Given the description of an element on the screen output the (x, y) to click on. 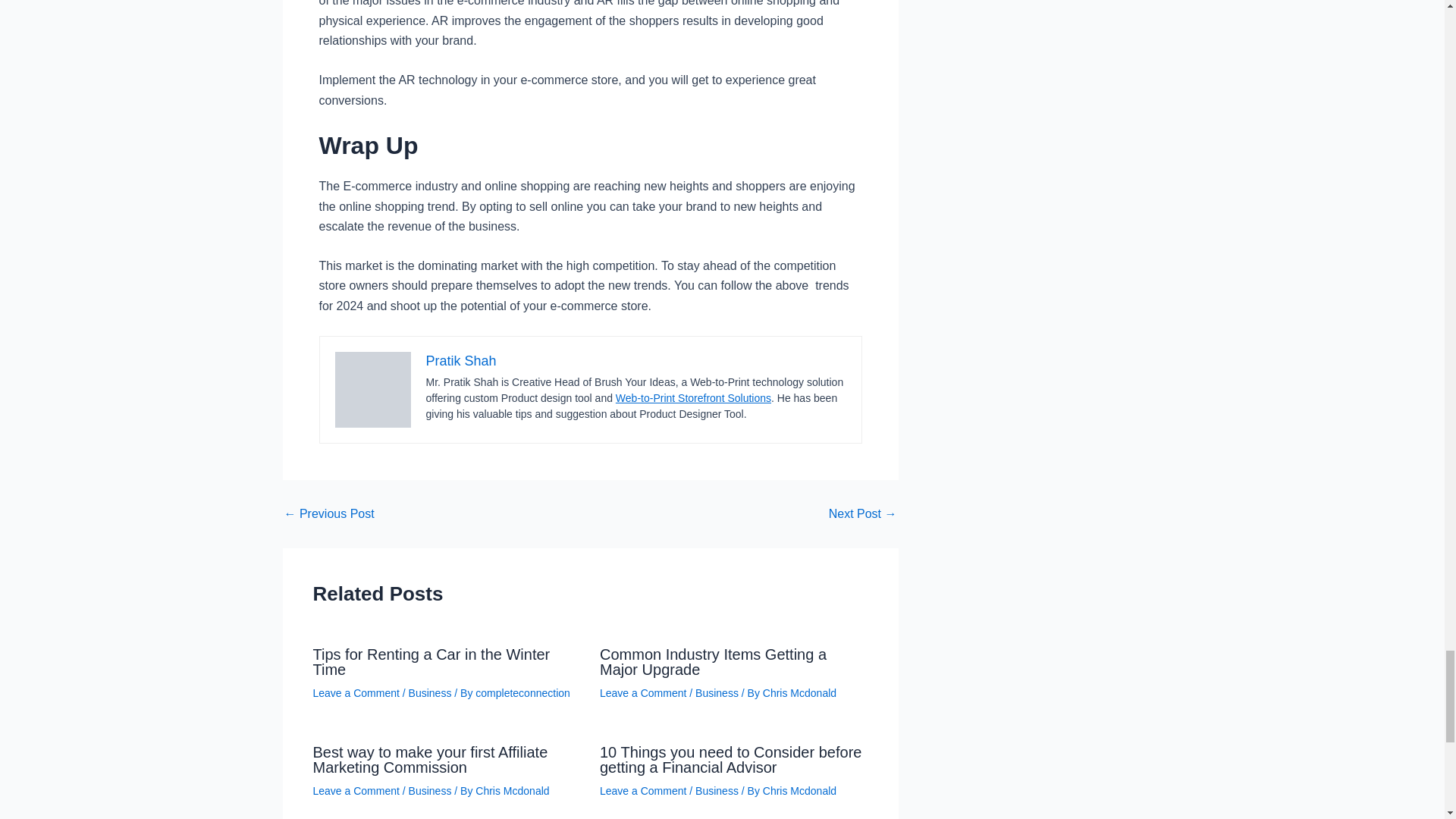
View all posts by Chris Mcdonald (798, 693)
10 Surefire Ways to Optimise Your Site to Boost Local SEO (328, 513)
View all posts by Chris Mcdonald (798, 790)
View all posts by Chris Mcdonald (512, 790)
View all posts by completeconnection (523, 693)
Top Tips for Choosing the Best Website Hosting Services (862, 513)
